Given the description of an element on the screen output the (x, y) to click on. 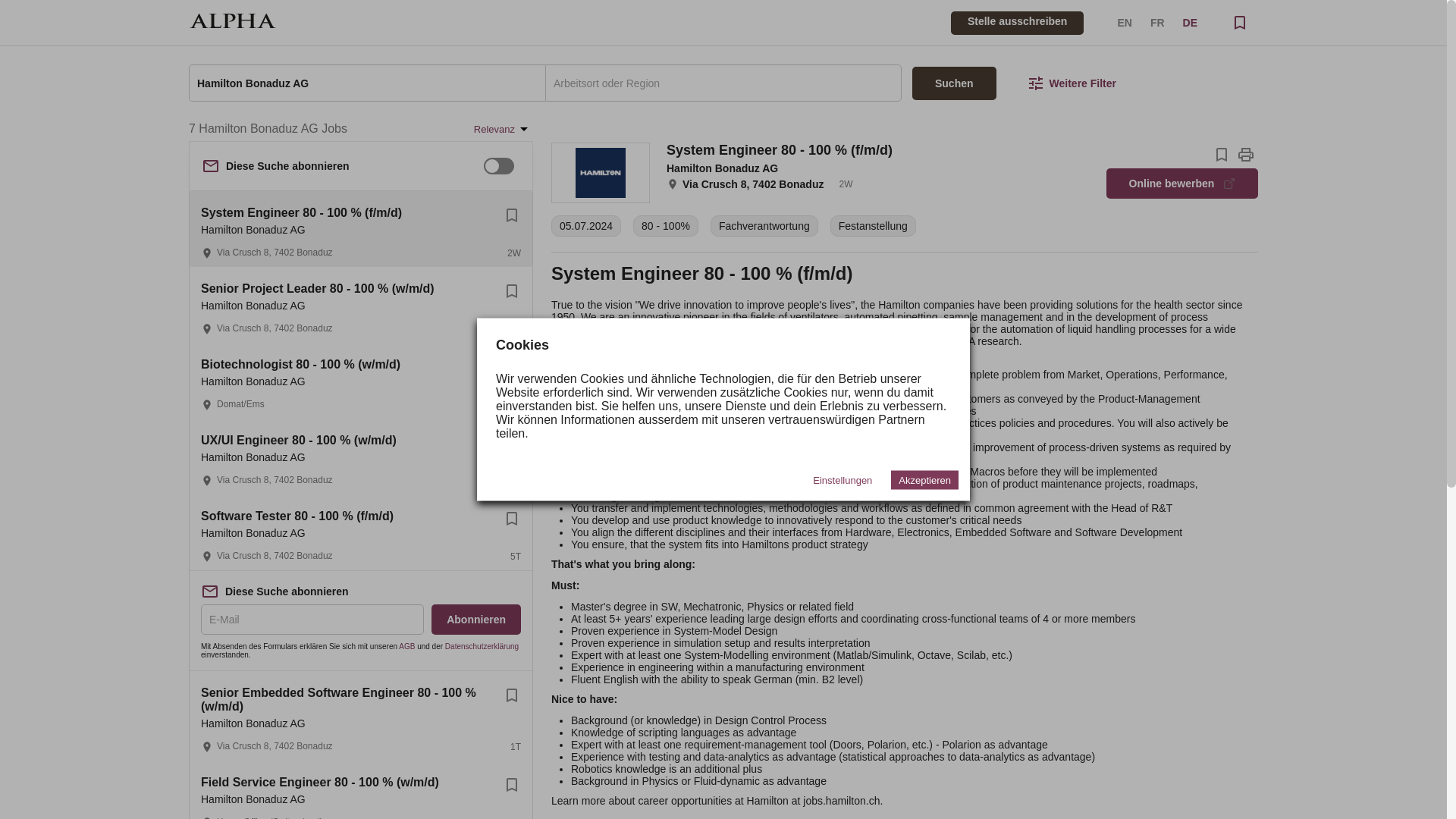
Weitere Filter (1071, 83)
Hamilton Bonaduz AG (721, 168)
Merkliste (1239, 22)
Abonnieren (475, 619)
EN (1123, 22)
AGB (406, 646)
jobs.hamilton.ch (841, 800)
DE (1189, 22)
FR (1157, 22)
Relevanz (503, 128)
Suchen (953, 82)
Online bewerben (1181, 183)
Stelle ausschreiben (1017, 20)
Hamilton Bonaduz AG (366, 82)
